Given the description of an element on the screen output the (x, y) to click on. 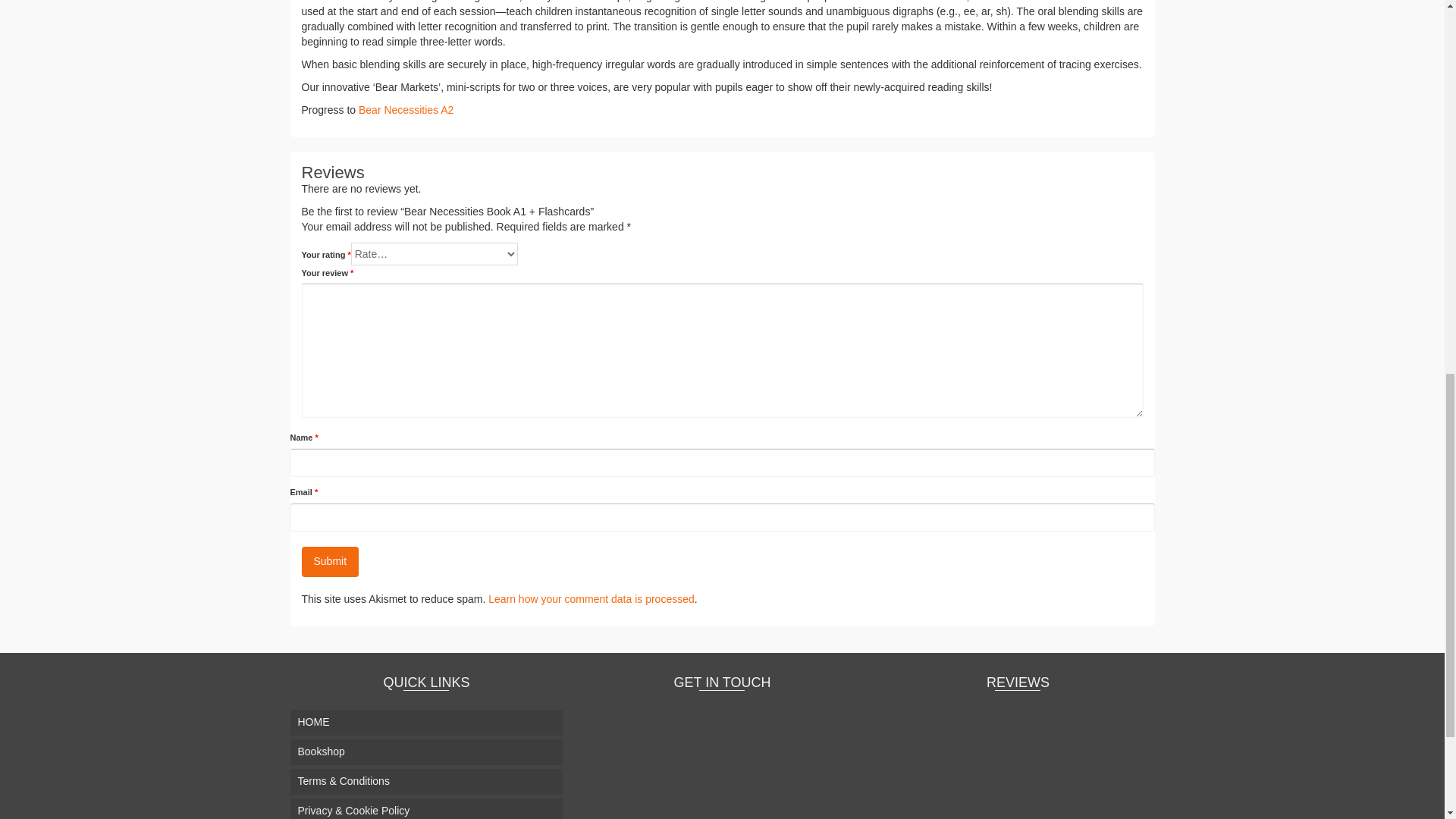
Submit (330, 562)
Bear Necessities A2 (405, 110)
Bear Necessities Book A2 (405, 110)
